Given the description of an element on the screen output the (x, y) to click on. 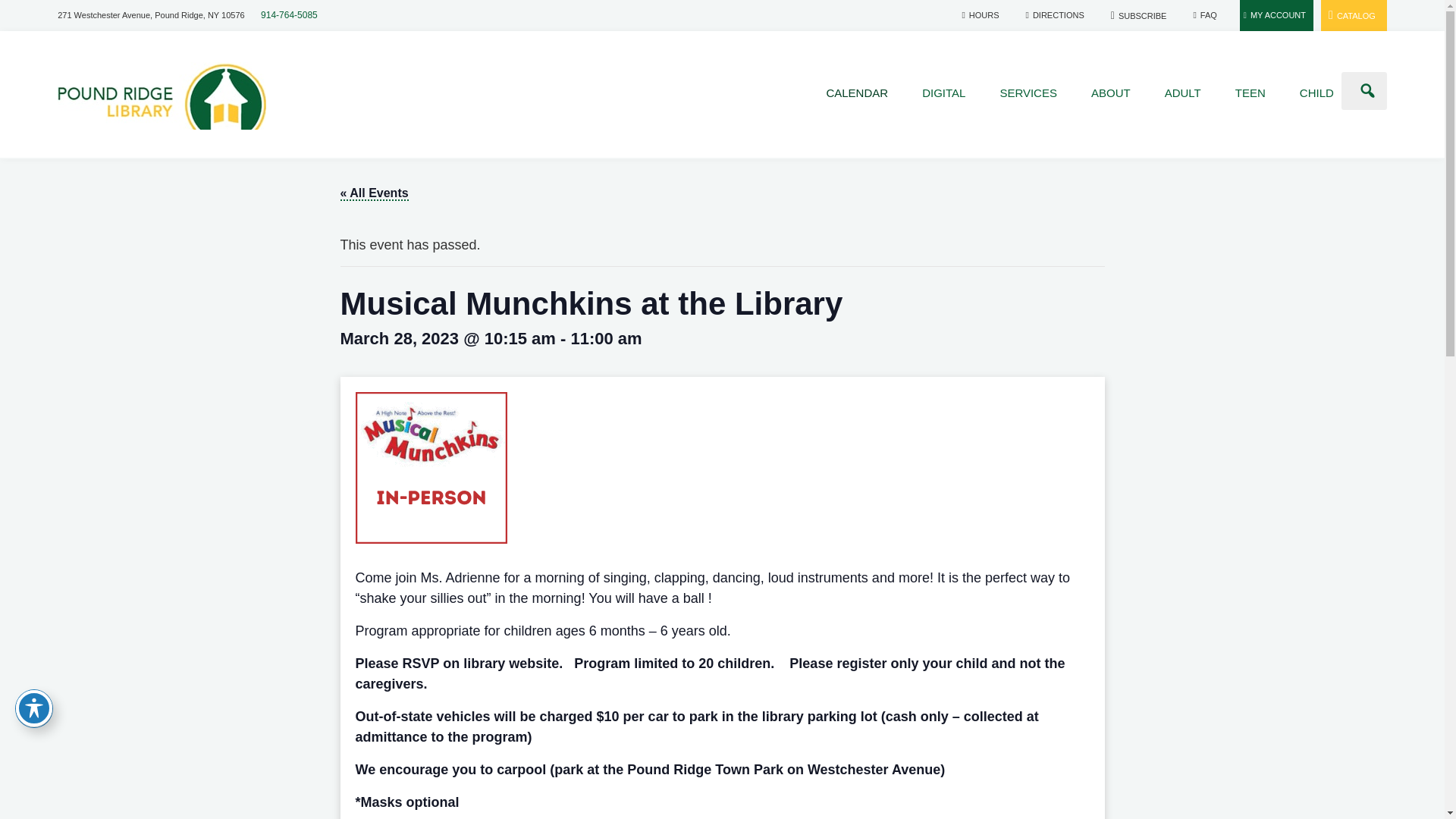
CATALOG (1352, 14)
SUBSCRIBE (1140, 15)
CALENDAR (856, 92)
914-764-5085 (288, 14)
HOURS (981, 14)
MY ACCOUNT (1275, 14)
DIGITAL (943, 92)
FAQ (1206, 14)
DIRECTIONS (1056, 14)
SERVICES (1027, 92)
